Given the description of an element on the screen output the (x, y) to click on. 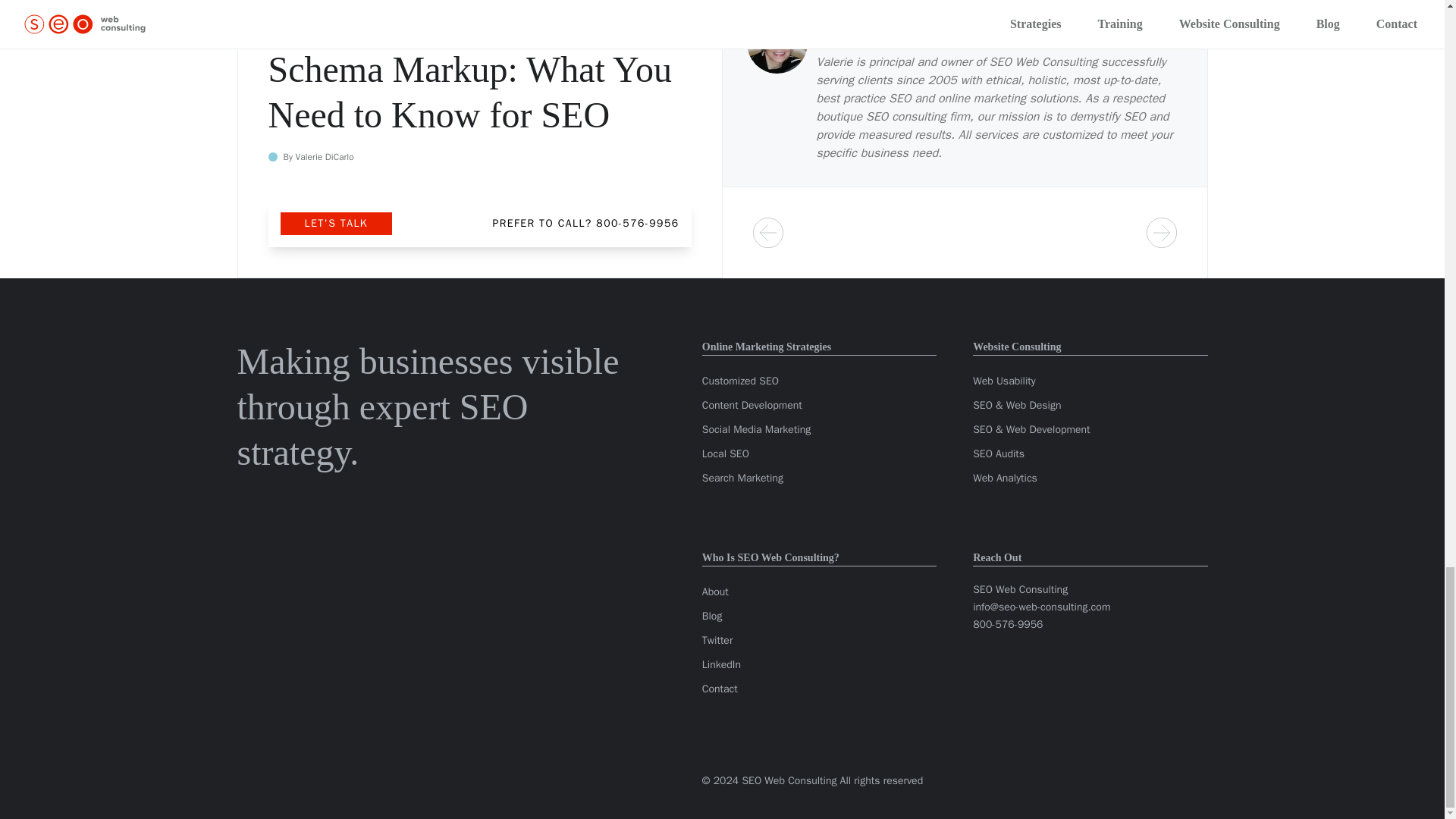
SEO Web Consulting (1043, 61)
Customized SEO (739, 380)
Web Usability (1003, 380)
Local SEO (725, 453)
Content Development (751, 404)
Search Marketing (742, 477)
Social Media Marketing (755, 429)
